Given the description of an element on the screen output the (x, y) to click on. 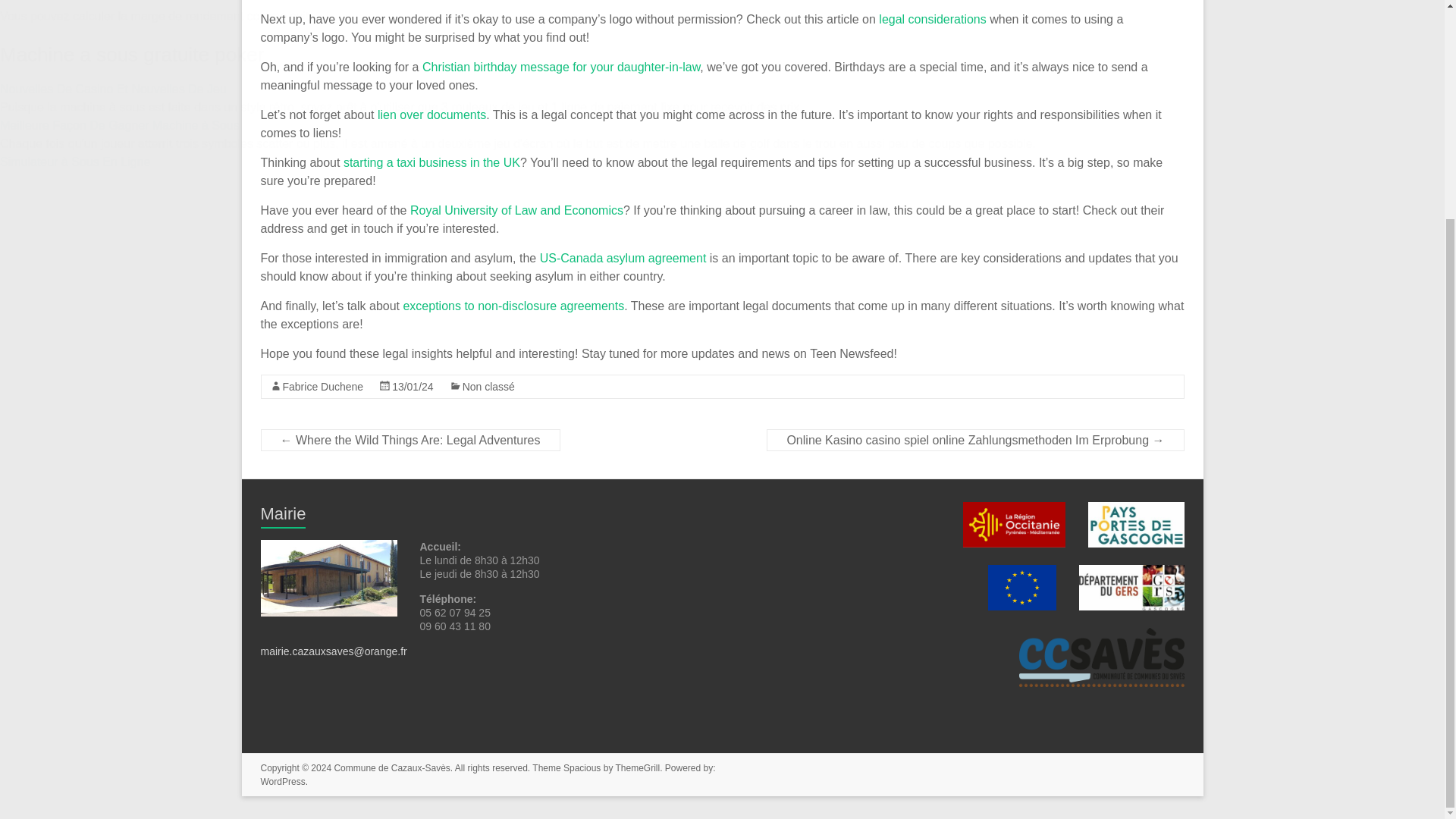
Spacious (581, 767)
legal considerations (932, 19)
WordPress (282, 781)
Nouvelles De Casino Et Nouvelles De Jeu (113, 88)
9h03 (412, 386)
